Given the description of an element on the screen output the (x, y) to click on. 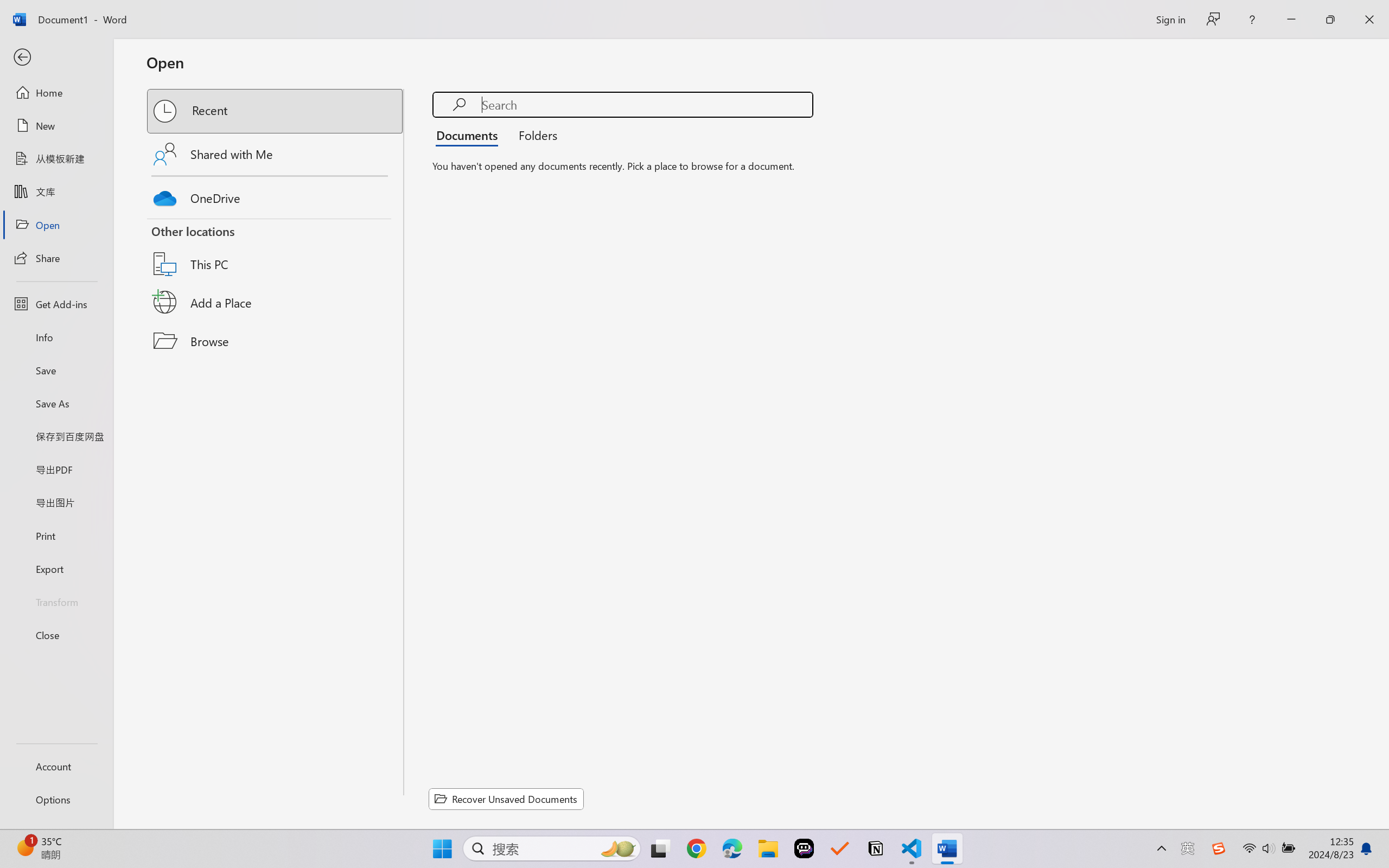
Print (56, 535)
Options (56, 798)
OneDrive (275, 195)
New (56, 125)
This PC (275, 249)
Recover Unsaved Documents (506, 798)
Export (56, 568)
Add a Place (275, 302)
Get Add-ins (56, 303)
